Given the description of an element on the screen output the (x, y) to click on. 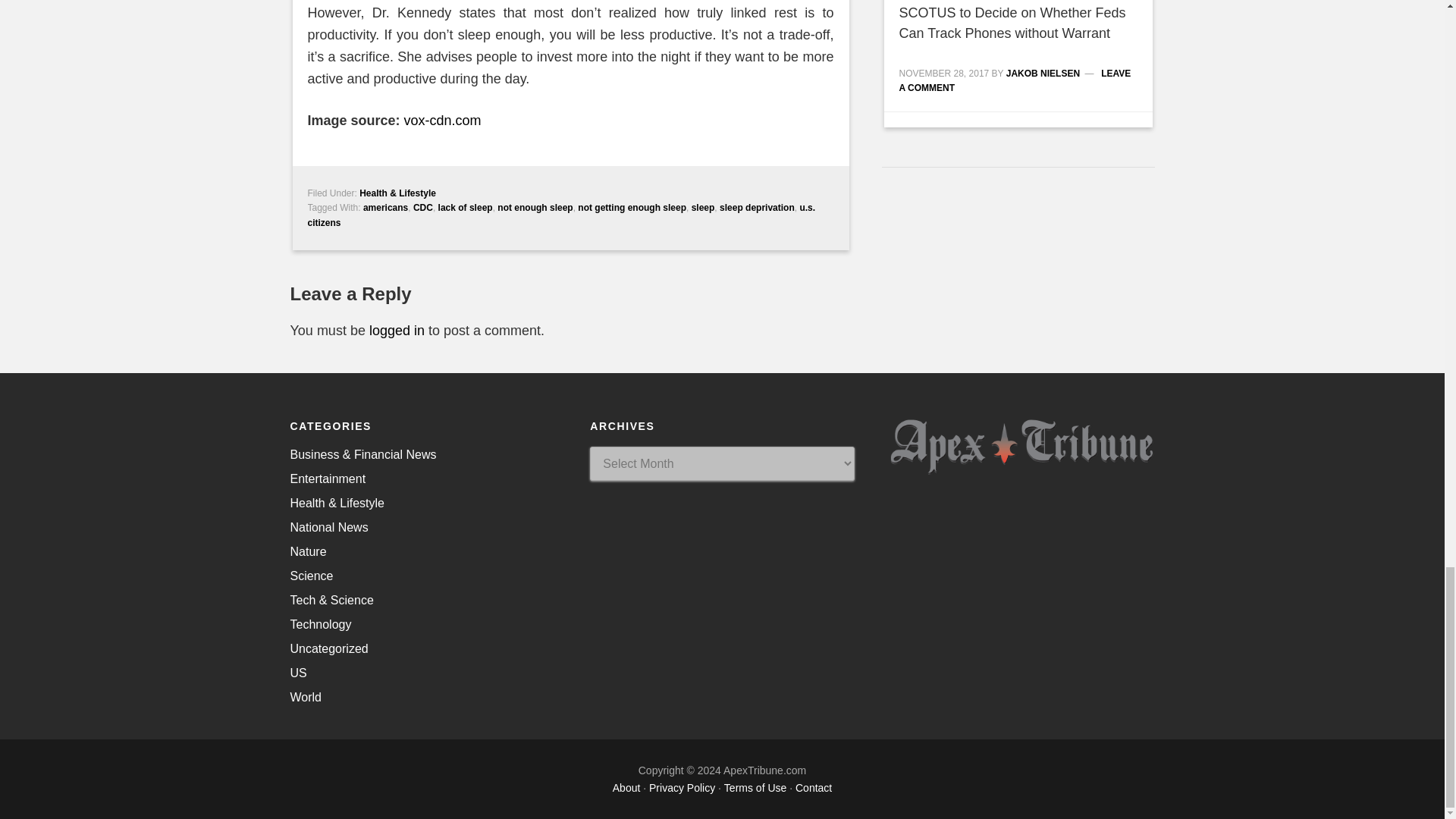
sleep (702, 207)
u.s. citizens (561, 215)
vox-cdn.com (442, 120)
lack of sleep (465, 207)
not enough sleep (534, 207)
sleep deprivation (756, 207)
CDC (422, 207)
americans (384, 207)
logged in (397, 330)
not getting enough sleep (631, 207)
